Given the description of an element on the screen output the (x, y) to click on. 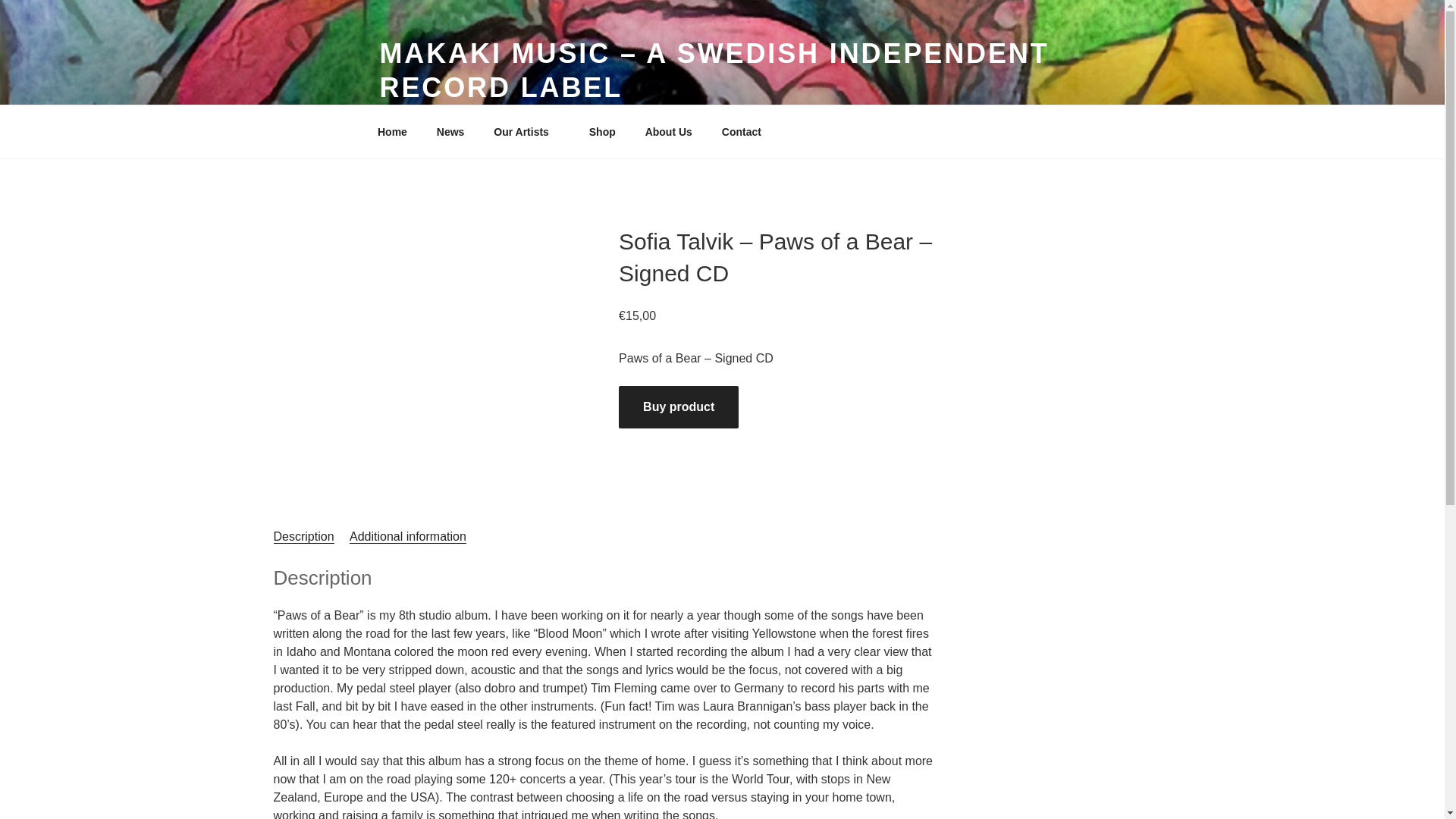
About Us (667, 131)
Shop (601, 131)
Buy product (678, 405)
Description (303, 535)
Contact (740, 131)
Additional information (407, 535)
Our Artists (526, 131)
News (450, 131)
Home (392, 131)
